Given the description of an element on the screen output the (x, y) to click on. 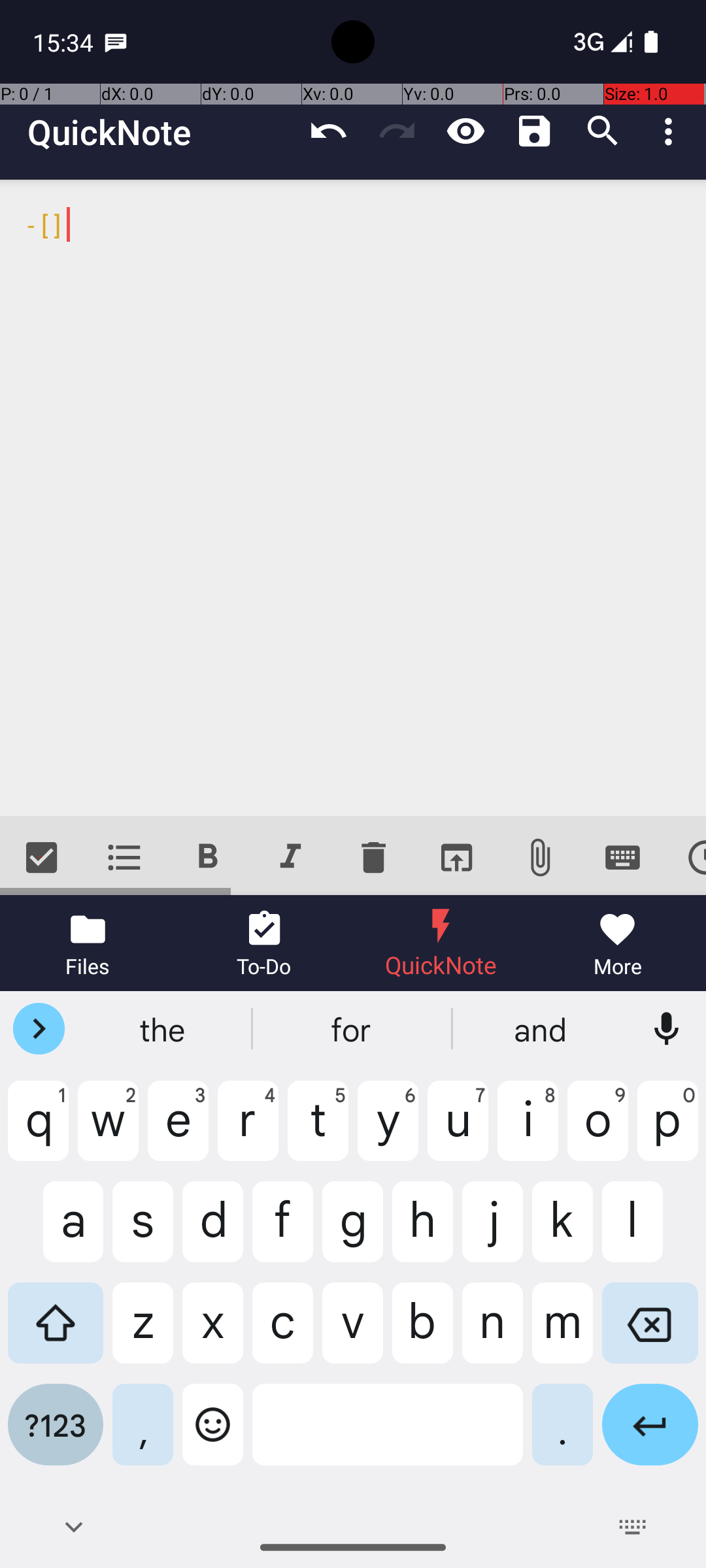
- [ ]  Element type: android.widget.EditText (353, 497)
the Element type: android.widget.FrameLayout (163, 1028)
for Element type: android.widget.FrameLayout (352, 1028)
SMS Messenger notification: Martin Chen Element type: android.widget.ImageView (115, 41)
